Given the description of an element on the screen output the (x, y) to click on. 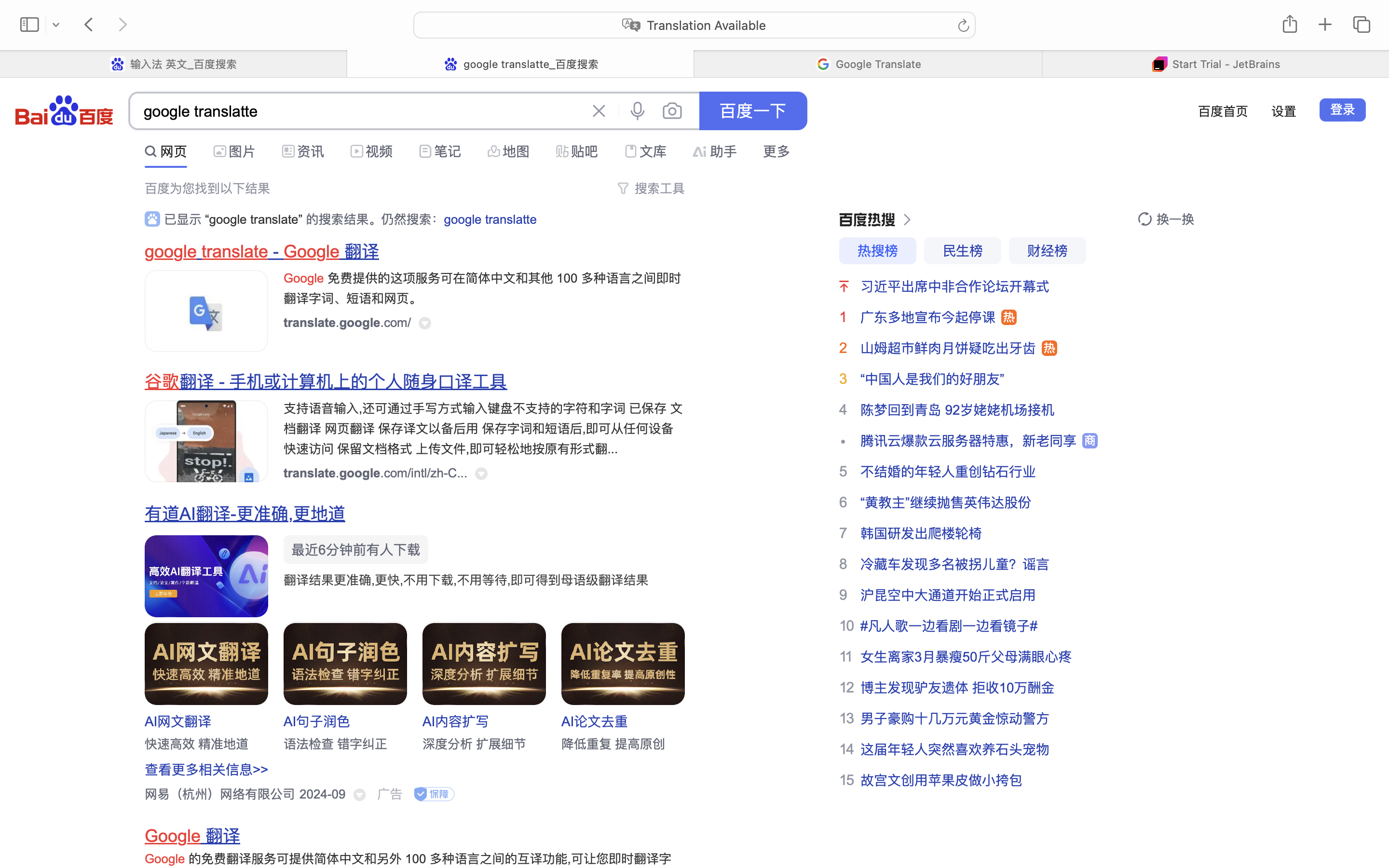
3 Element type: AXStaticText (842, 378)
百度为您找到以下结果 Element type: AXStaticText (207, 188)
